Given the description of an element on the screen output the (x, y) to click on. 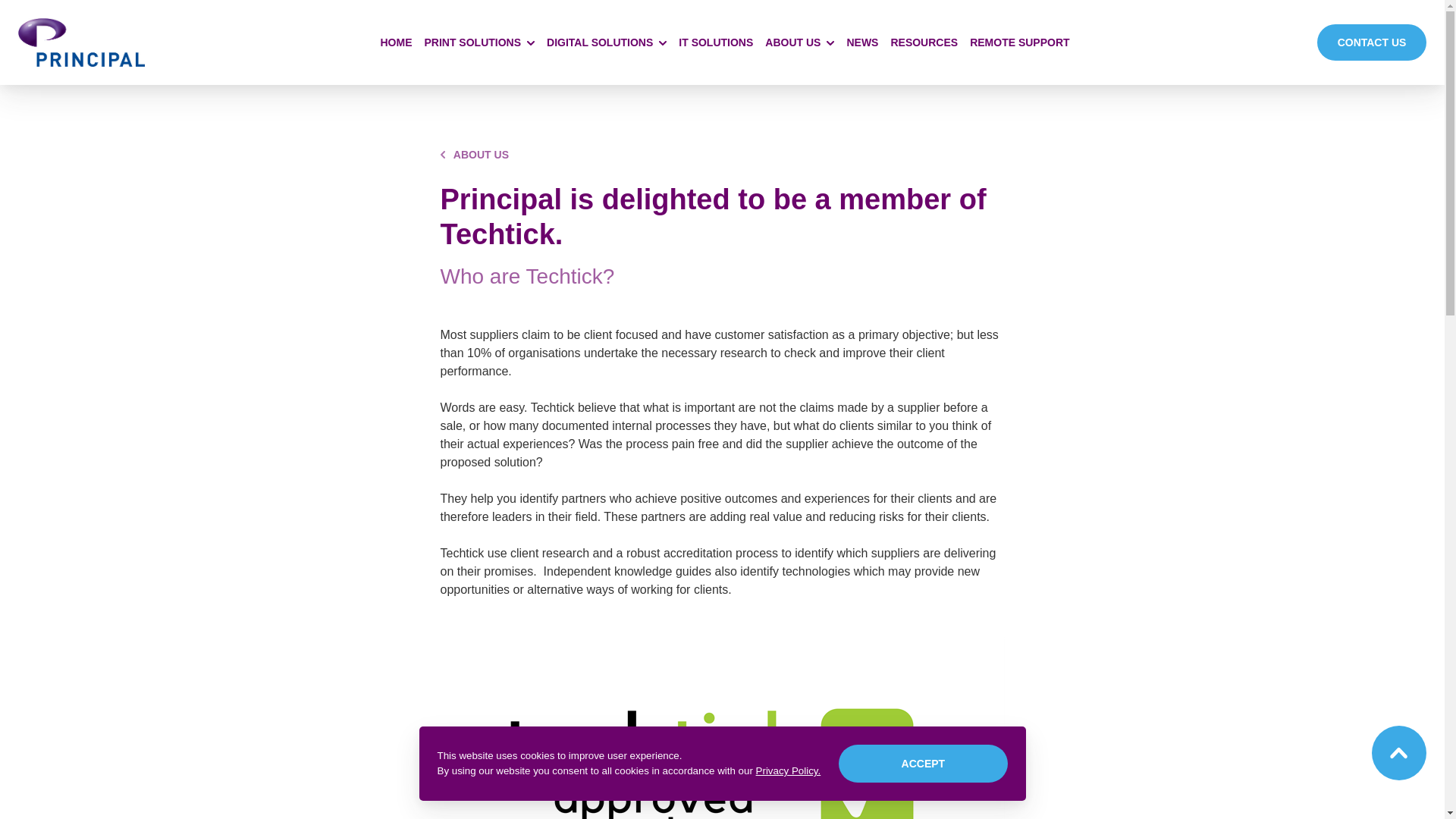
PRINT SOLUTIONS (478, 42)
HOME (395, 42)
GROUP 3 CREATED WITH SKETCH. (1398, 752)
